Given the description of an element on the screen output the (x, y) to click on. 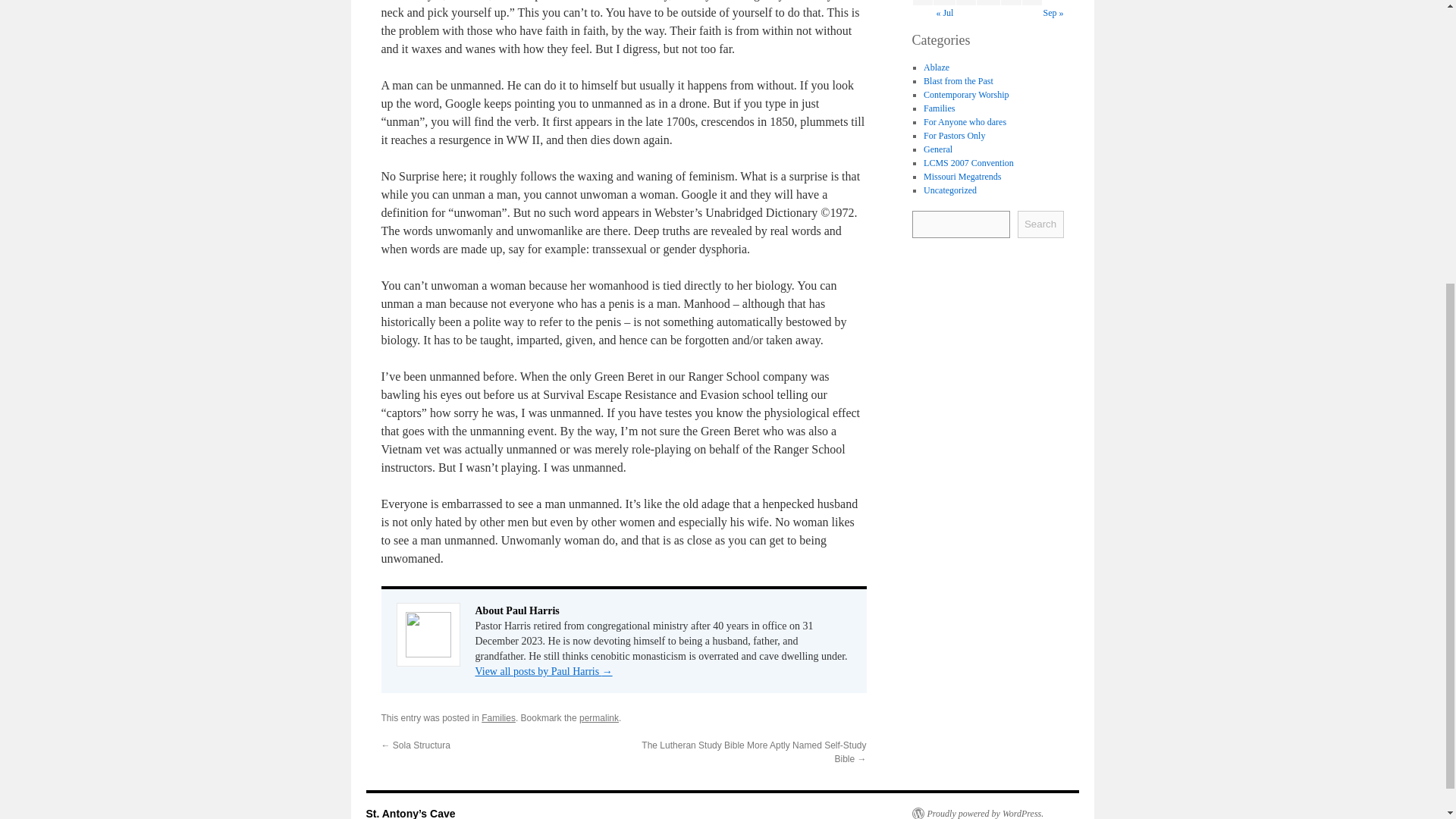
General (937, 148)
For Anyone who dares (964, 121)
Blast from the Past (957, 80)
Search (1040, 223)
Uncategorized (949, 189)
Missouri Megatrends (962, 175)
For Pastors Only (954, 134)
Families (939, 107)
Contemporary Worship (966, 93)
LCMS 2007 Convention (968, 162)
Ablaze (936, 66)
permalink (598, 717)
Families (498, 717)
